Given the description of an element on the screen output the (x, y) to click on. 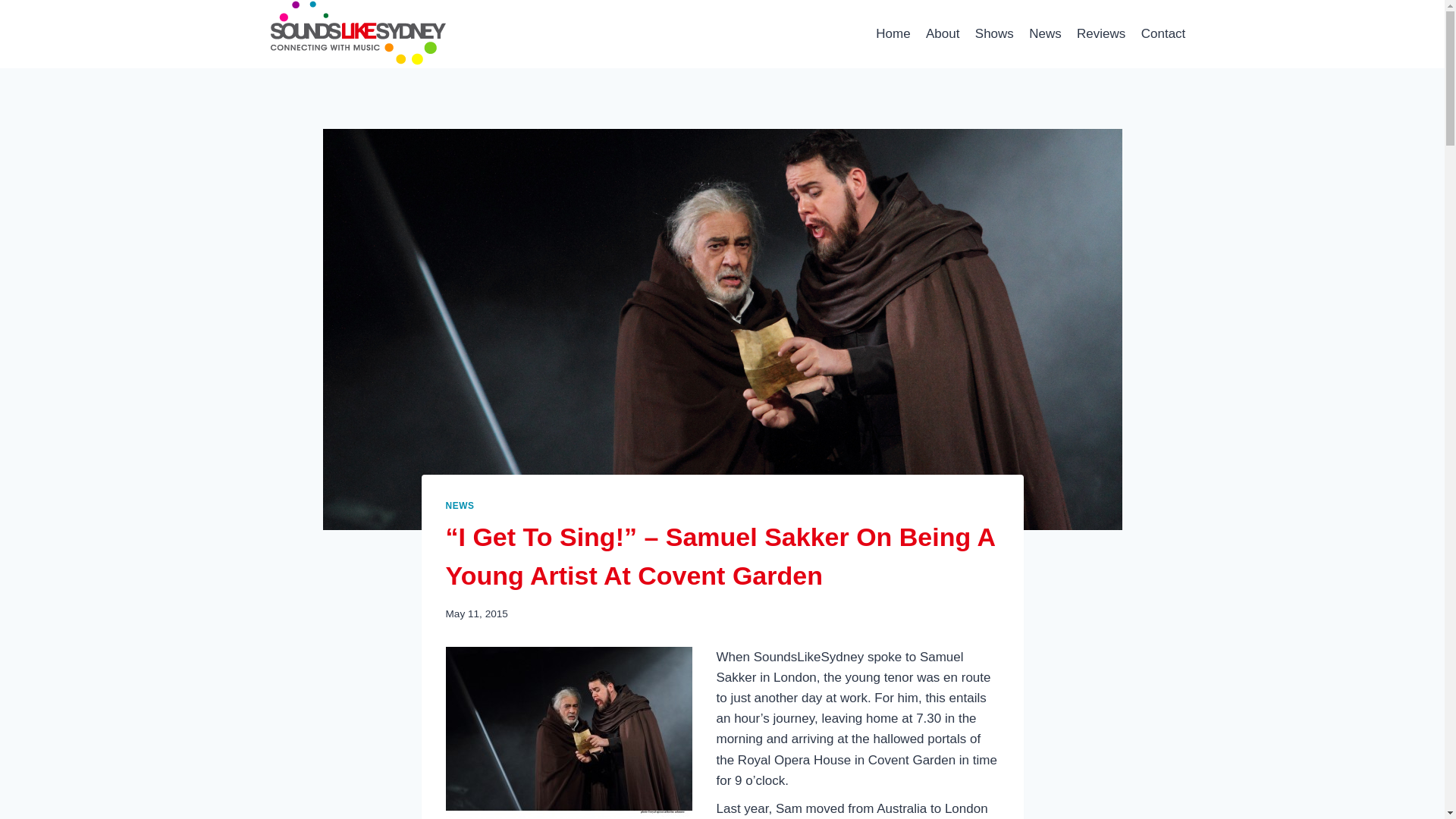
Contact (1163, 33)
News (1045, 33)
About (943, 33)
Shows (995, 33)
Reviews (1101, 33)
NEWS (459, 505)
Home (892, 33)
